Given the description of an element on the screen output the (x, y) to click on. 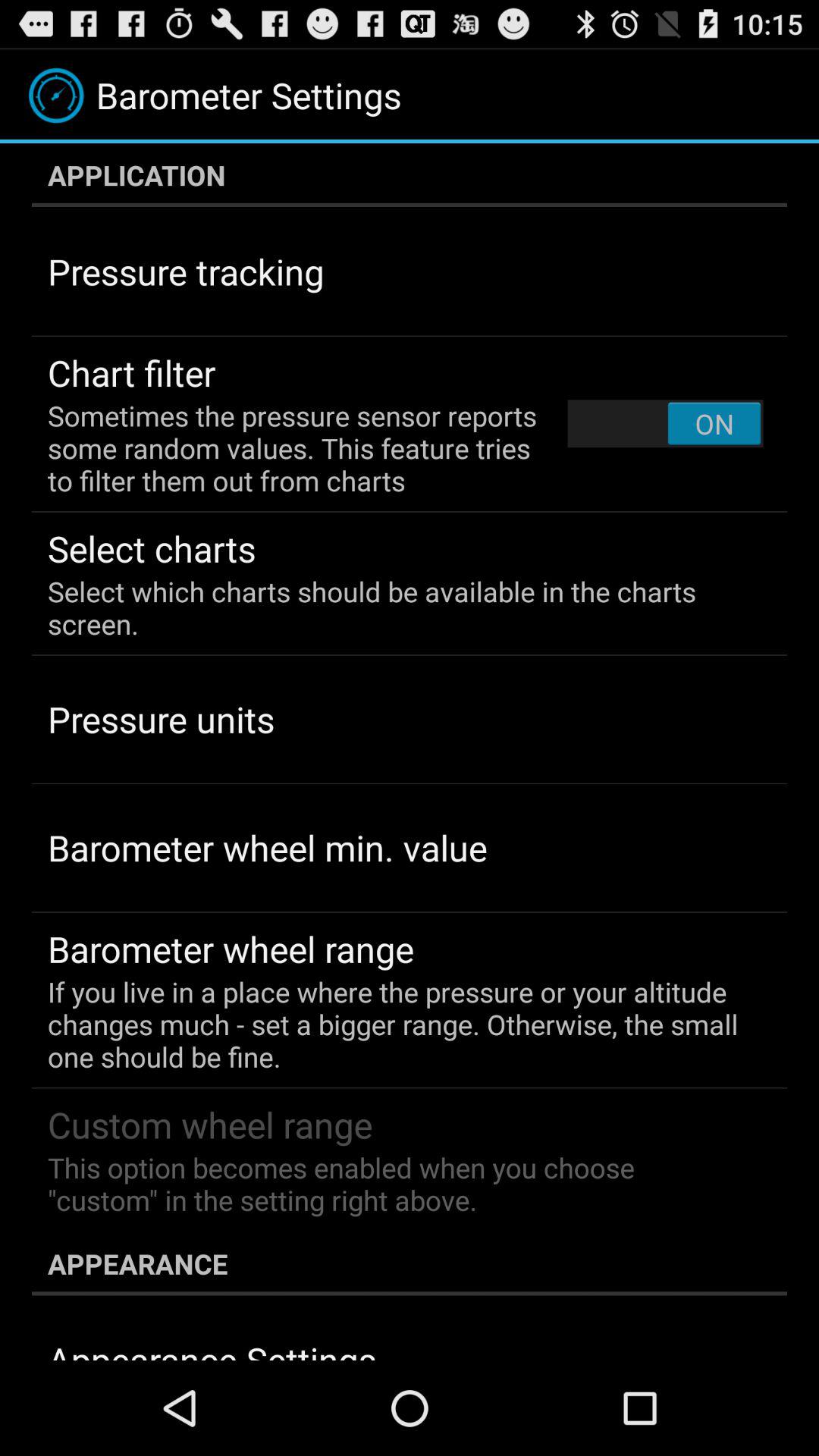
select if you live item (399, 1024)
